Given the description of an element on the screen output the (x, y) to click on. 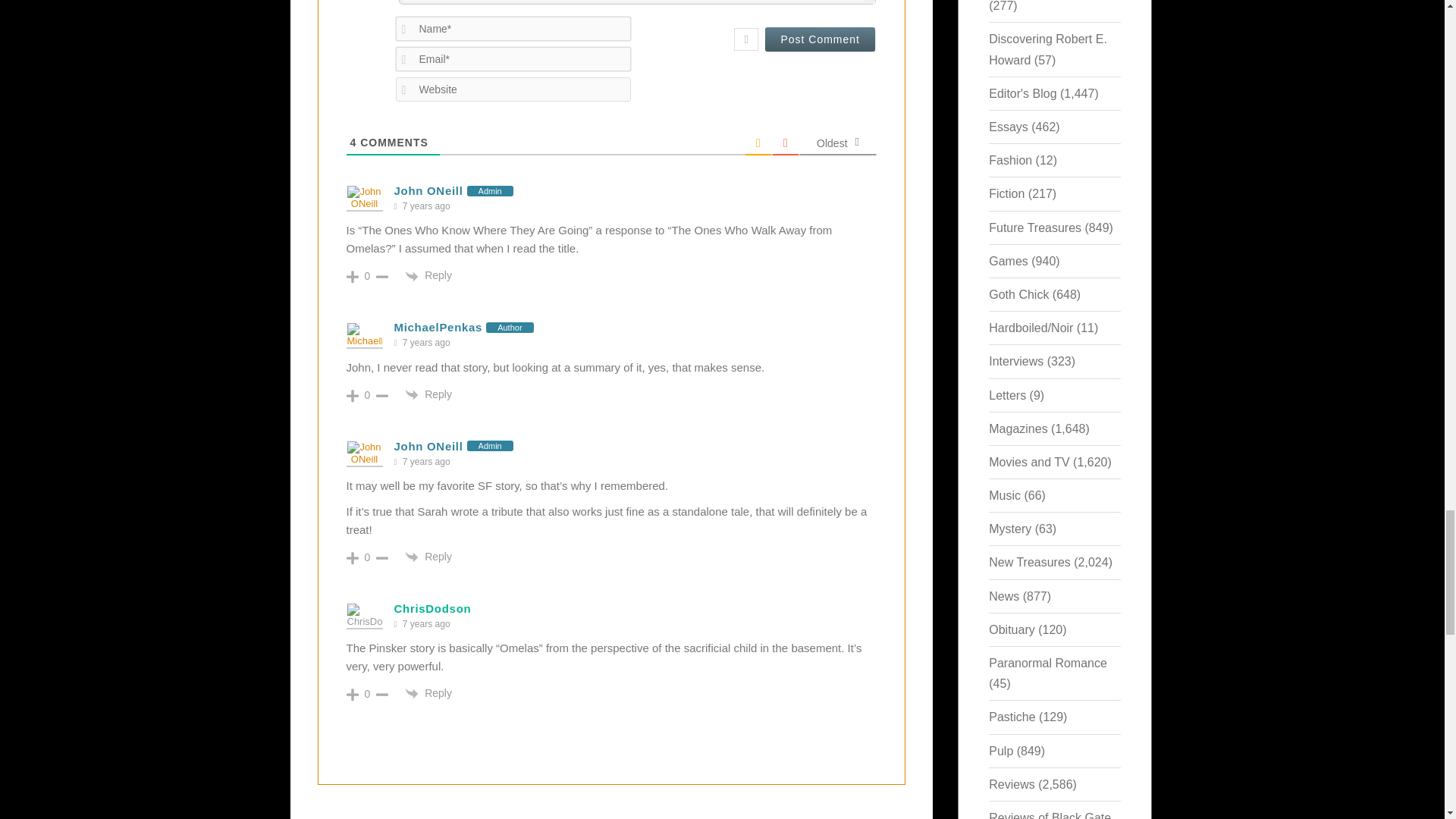
Post Comment (820, 39)
0 (366, 275)
0 (366, 395)
Post Comment (820, 39)
John ONeill (428, 190)
MichaelPenkas (438, 327)
Tuesday, March 28, 2017 11:26 am (426, 206)
Tuesday, March 28, 2017 11:34 am (426, 342)
John ONeill (428, 445)
